Given the description of an element on the screen output the (x, y) to click on. 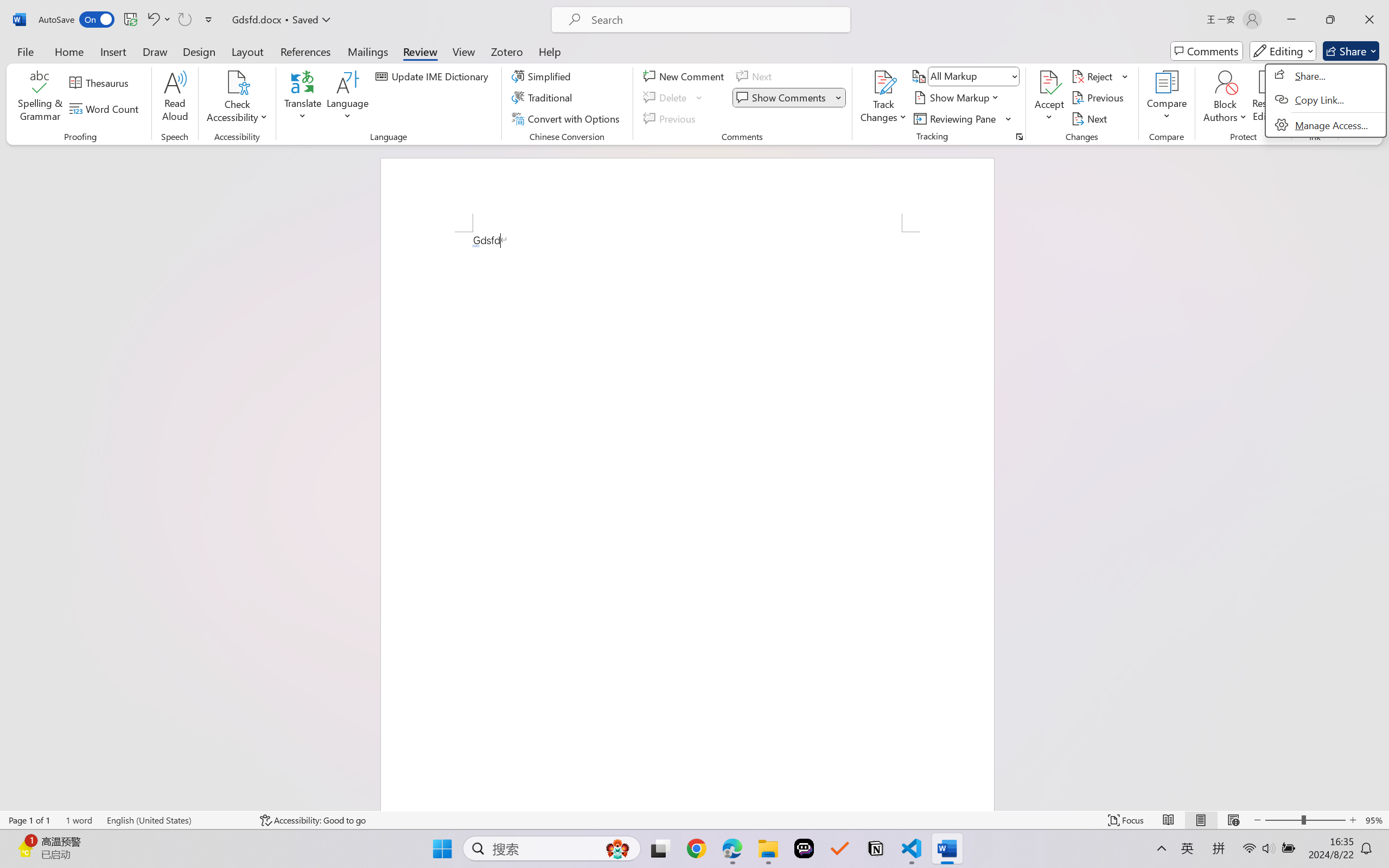
Reviewing Pane (962, 118)
Block Authors (1224, 81)
Accept and Move to Next (1049, 81)
Language (347, 97)
Change Tracking Options... (1019, 136)
